Given the description of an element on the screen output the (x, y) to click on. 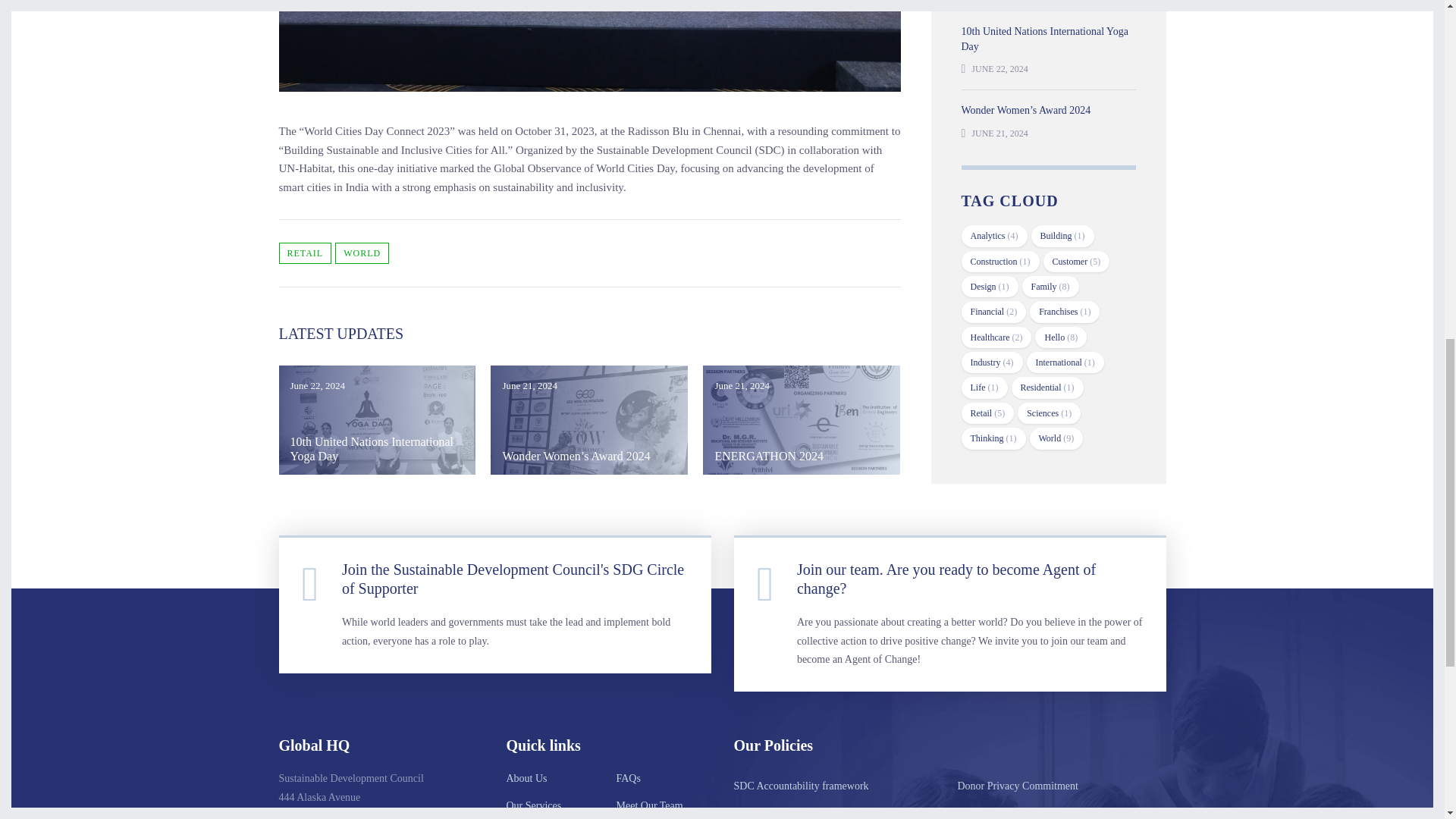
image-1 (377, 420)
WhatsApp Image 2024-04-27 at 4.57.46 PM (801, 420)
